Given the description of an element on the screen output the (x, y) to click on. 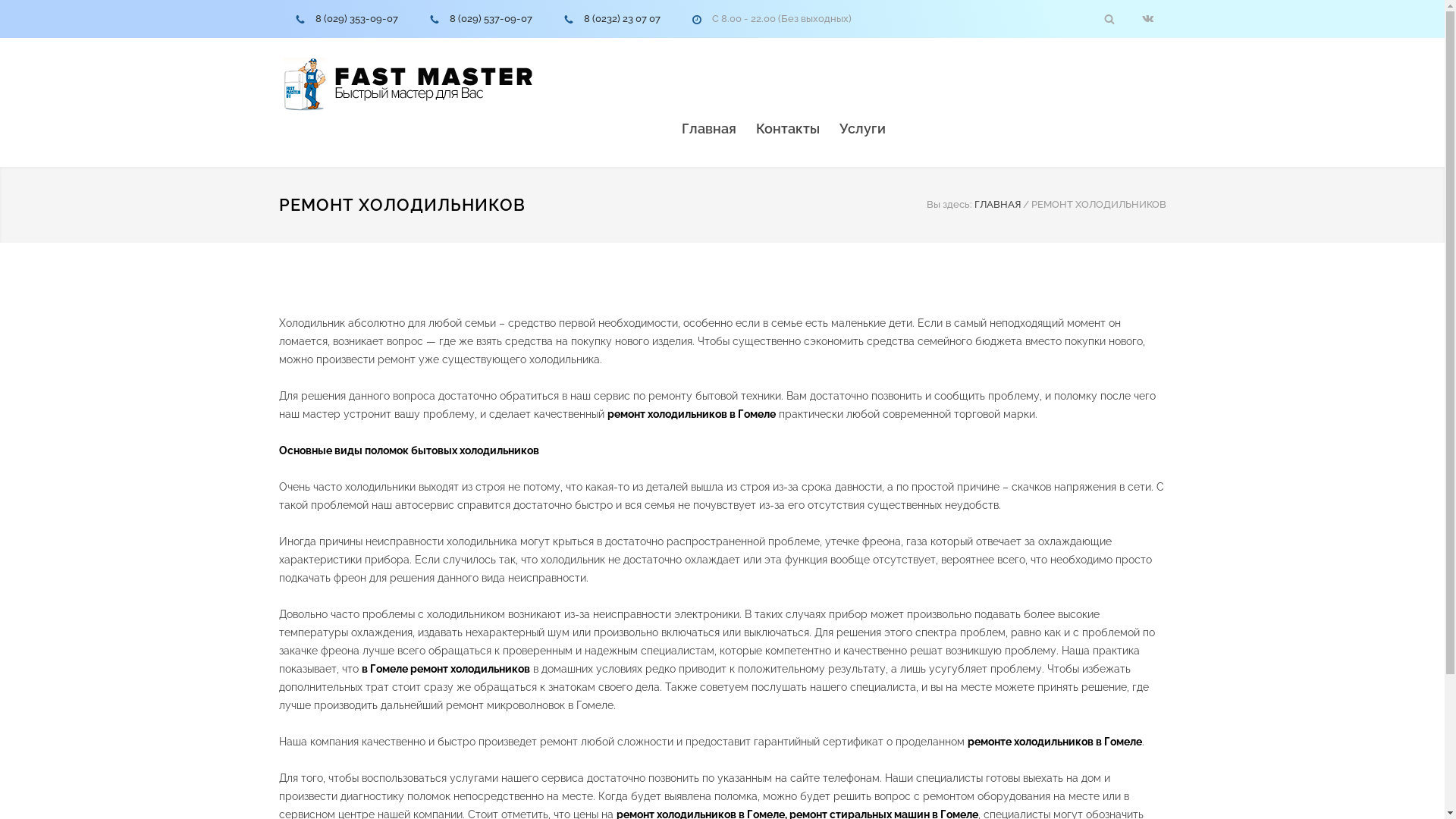
8 (029) 537-09-07 Element type: text (489, 18)
8 (0232) 23 07 07 Element type: text (621, 18)
8 (029) 353-09-07 Element type: text (356, 18)
Search Element type: hover (1108, 18)
